Given the description of an element on the screen output the (x, y) to click on. 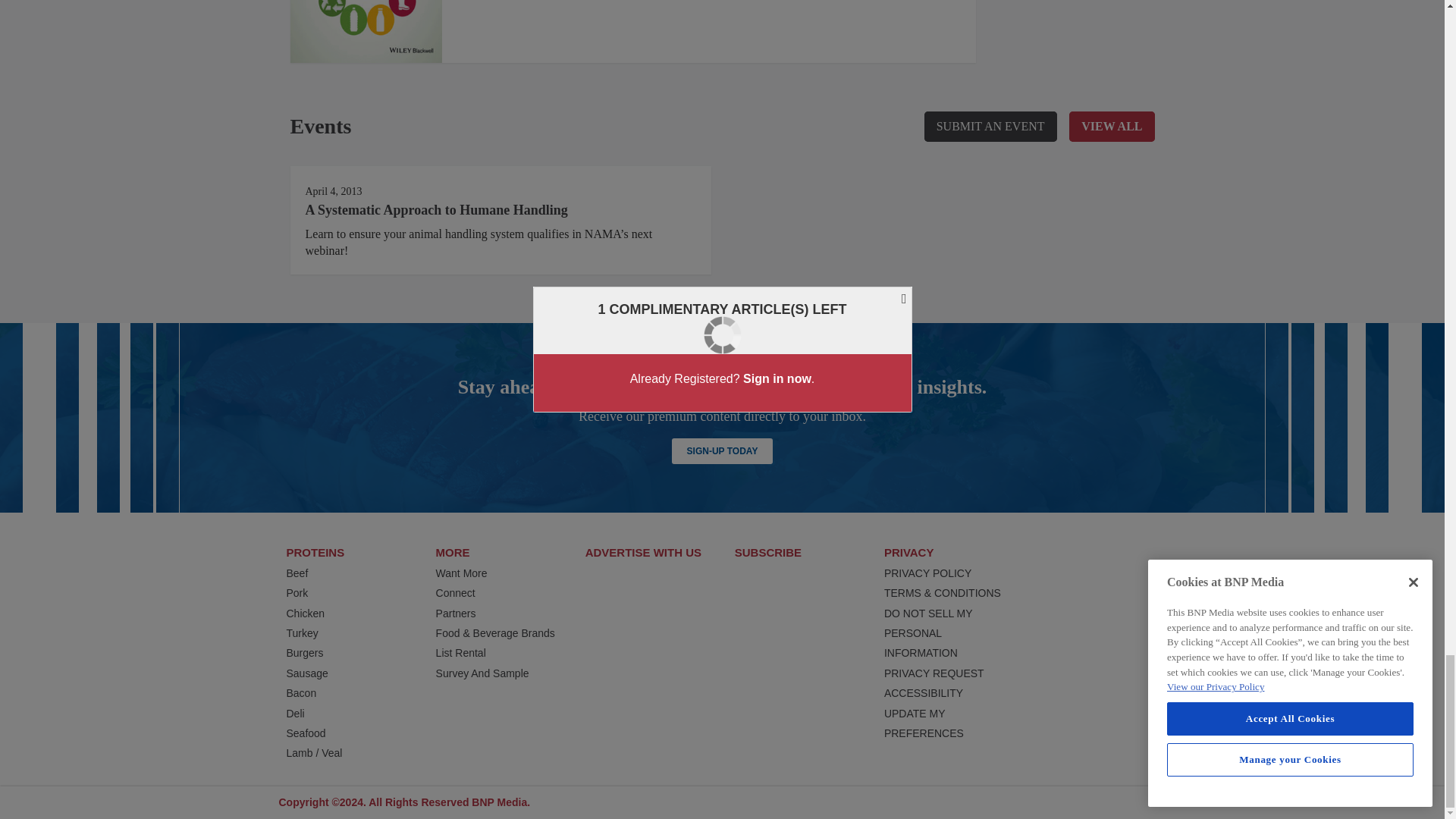
food-book.gif (365, 31)
